Given the description of an element on the screen output the (x, y) to click on. 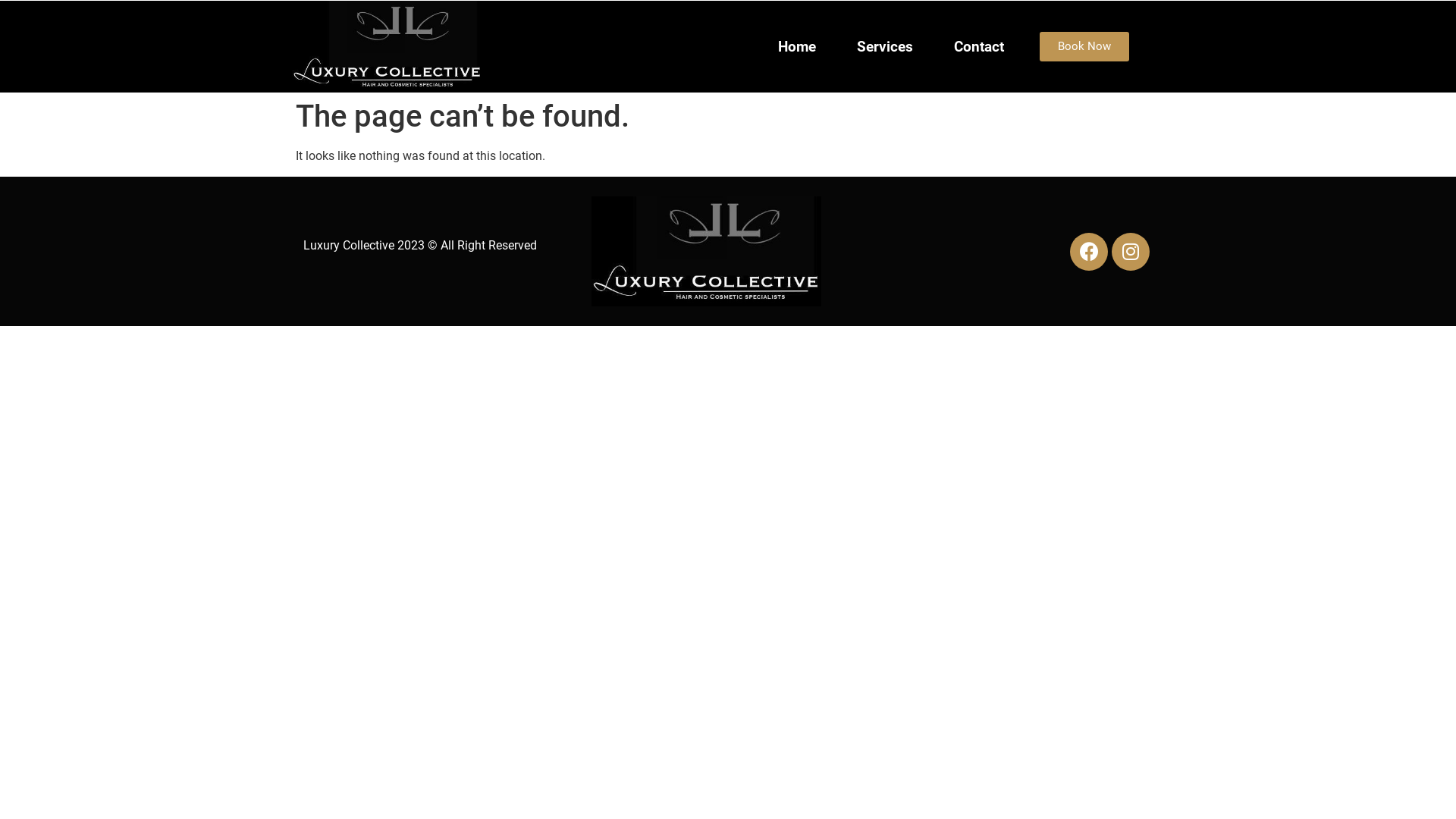
Contact Element type: text (978, 46)
Services Element type: text (884, 46)
Book Now Element type: text (1084, 46)
Home Element type: text (796, 46)
